Given the description of an element on the screen output the (x, y) to click on. 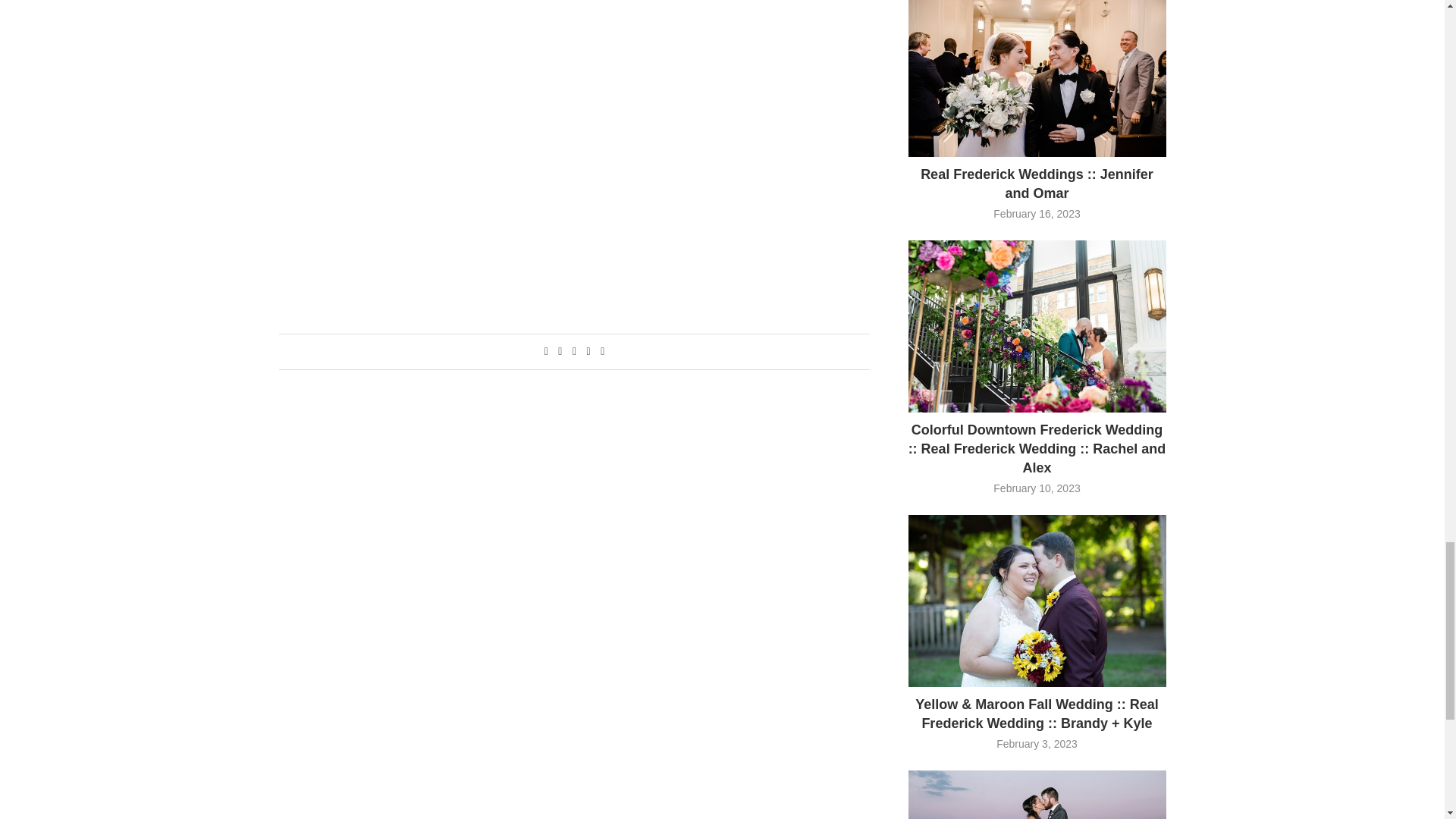
Real Frederick Weddings :: Jennifer and Omar (1037, 184)
Real Frederick Weddings :: Jennifer and Omar (1037, 78)
